Given the description of an element on the screen output the (x, y) to click on. 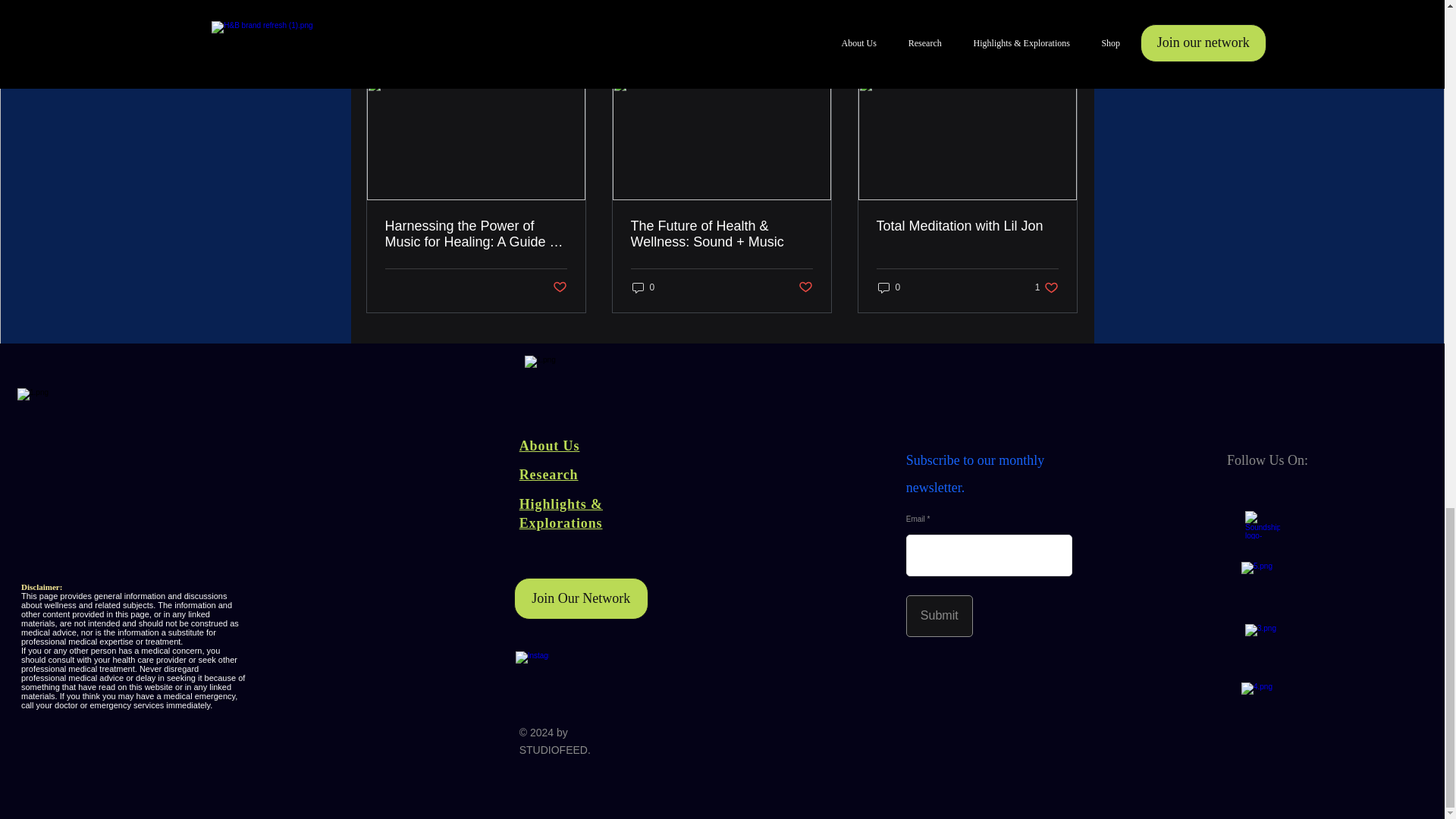
0 (889, 287)
0 (643, 287)
Post not marked as liked (558, 287)
Research (548, 474)
About Us (549, 445)
Join Our Network (580, 598)
Total Meditation with Lil Jon (967, 226)
Submit (1046, 287)
See All (938, 616)
Post not marked as liked (1061, 50)
